Given the description of an element on the screen output the (x, y) to click on. 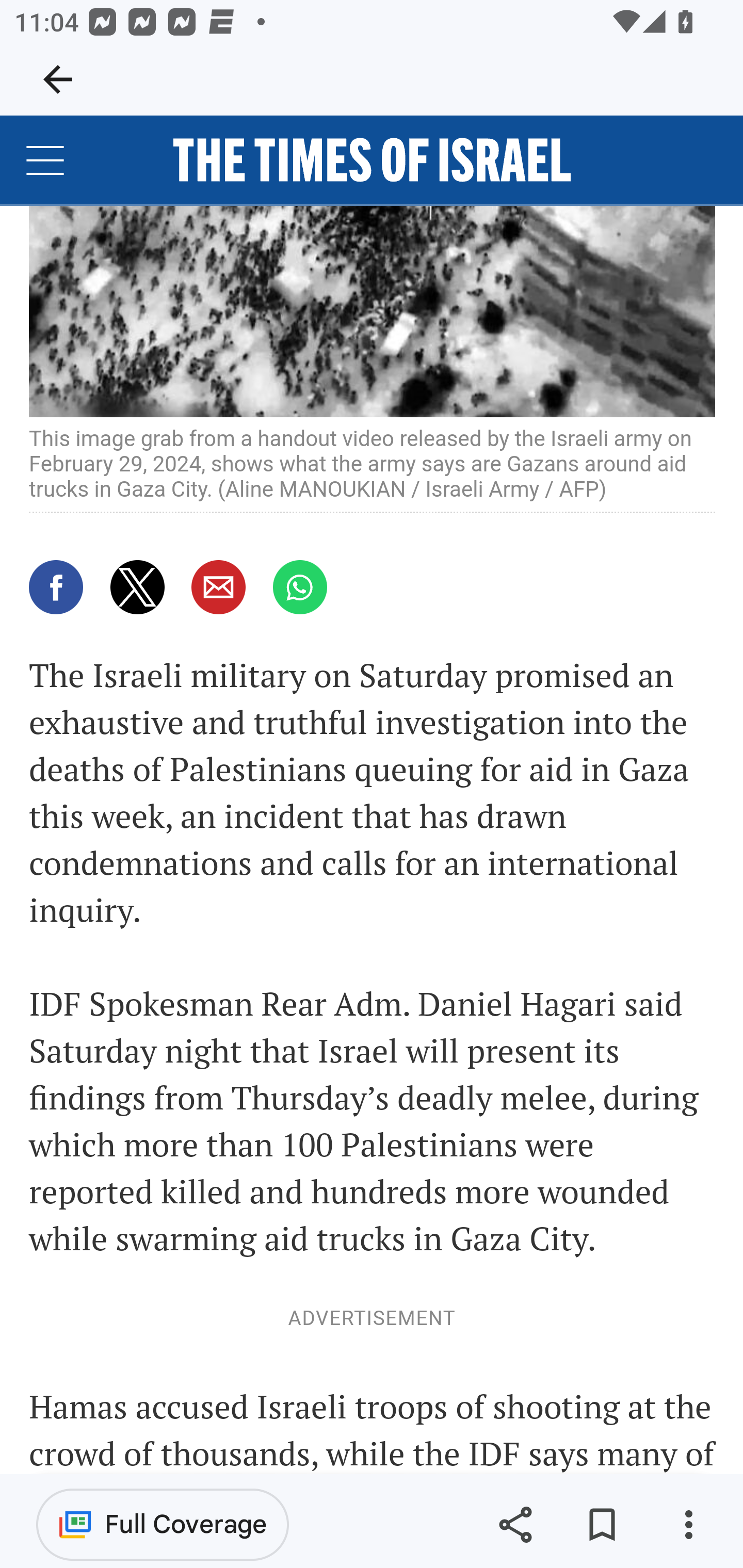
Navigate up (57, 79)
 (46, 160)
The Times of Israel (371, 160)
Share by facebook (56, 586)
Share by twitter (137, 586)
Share by email (218, 586)
Share by whatsapp (299, 586)
Share (514, 1524)
Save for later (601, 1524)
More options (688, 1524)
Full Coverage (162, 1524)
